Given the description of an element on the screen output the (x, y) to click on. 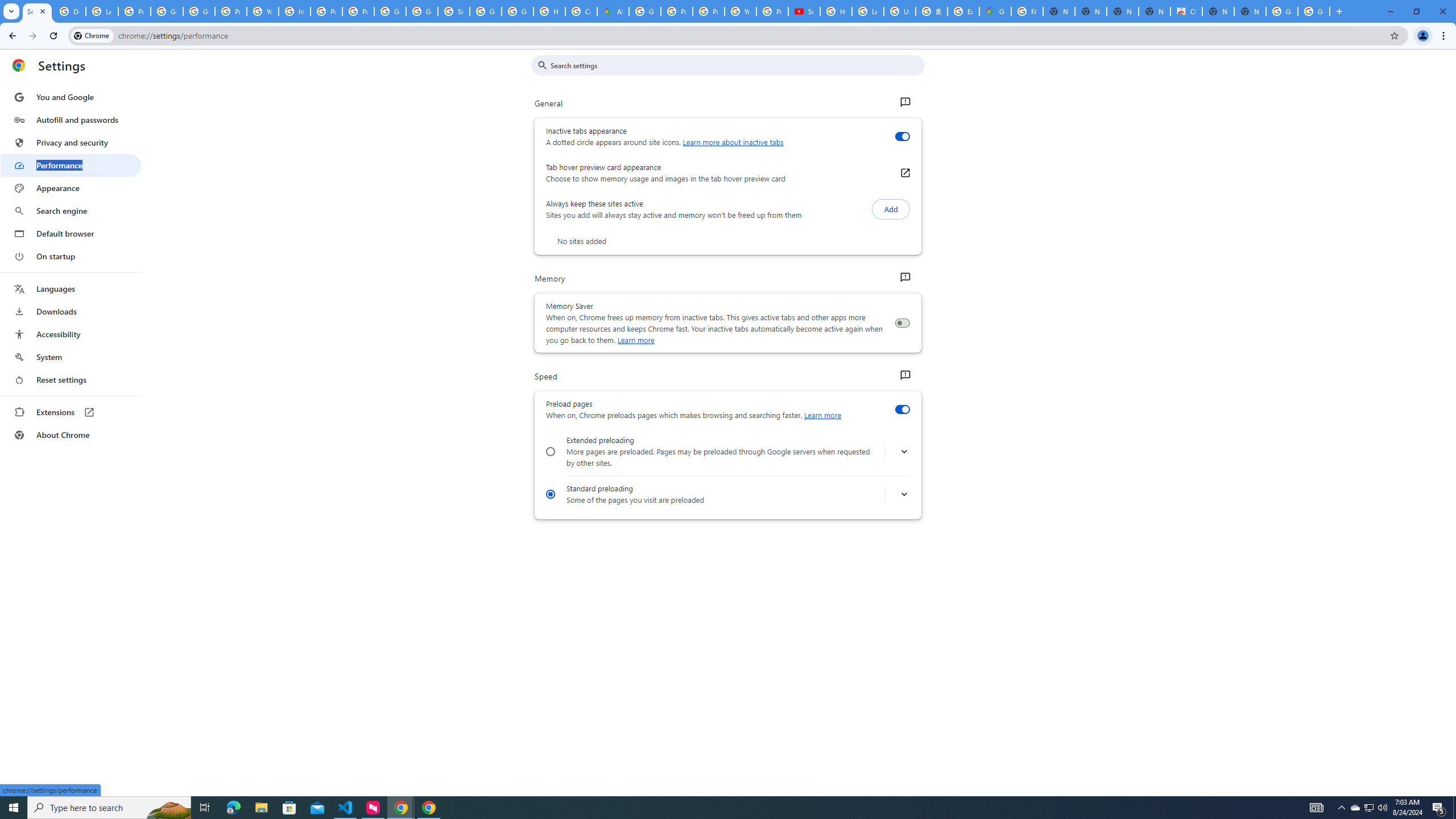
How Chrome protects your passwords - Google Chrome Help (836, 11)
Subscriptions - YouTube (804, 11)
YouTube (740, 11)
Appearance (70, 187)
Performance (70, 164)
Google Maps (995, 11)
Autofill and passwords (70, 119)
Standard preloading (550, 493)
Google Images (1313, 11)
Search settings (735, 65)
Google Account Help (166, 11)
